Given the description of an element on the screen output the (x, y) to click on. 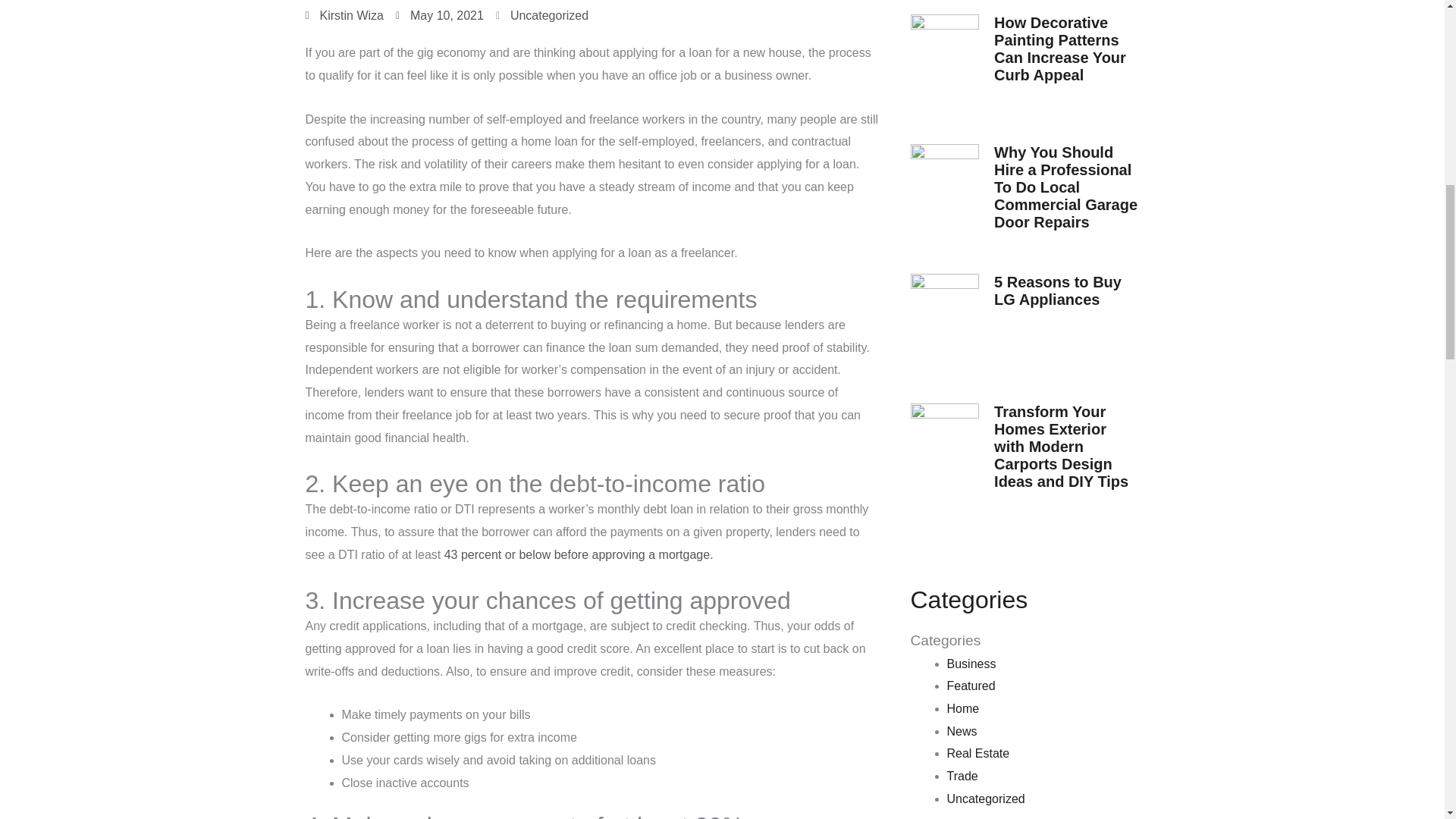
Uncategorized (549, 15)
Business (970, 663)
Kirstin Wiza (343, 15)
43 percent or below before approving a mortgage. (578, 554)
May 10, 2021 (439, 15)
News (961, 730)
Home (962, 707)
5 Reasons to Buy LG Appliances (1057, 290)
